Given the description of an element on the screen output the (x, y) to click on. 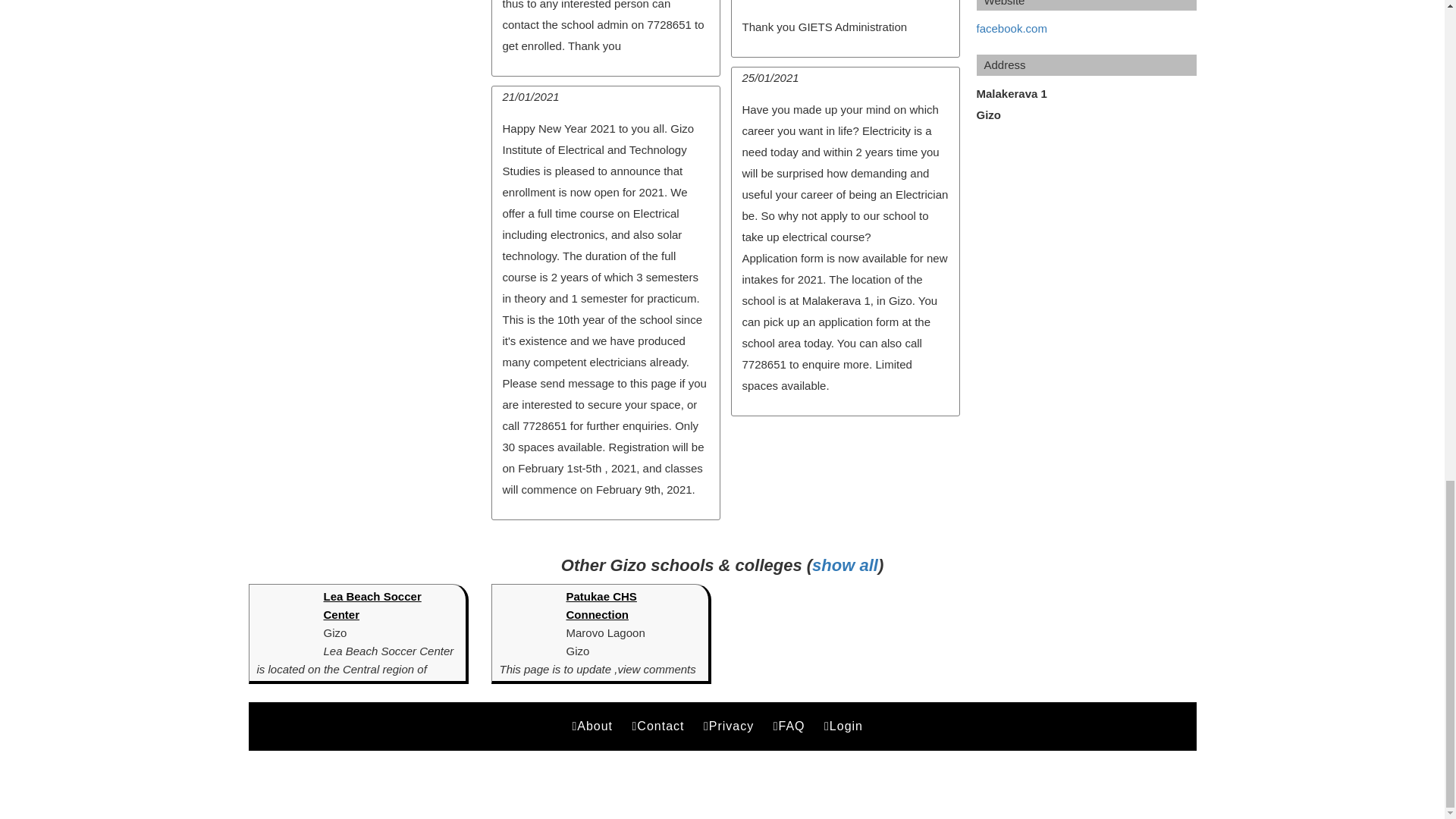
facebook.com (1011, 28)
show all (844, 565)
Contact (660, 725)
Login (846, 725)
FAQ (791, 725)
Privacy (731, 725)
About (594, 725)
Patukae CHS Connection (601, 604)
Lea Beach Soccer Center (371, 604)
